Given the description of an element on the screen output the (x, y) to click on. 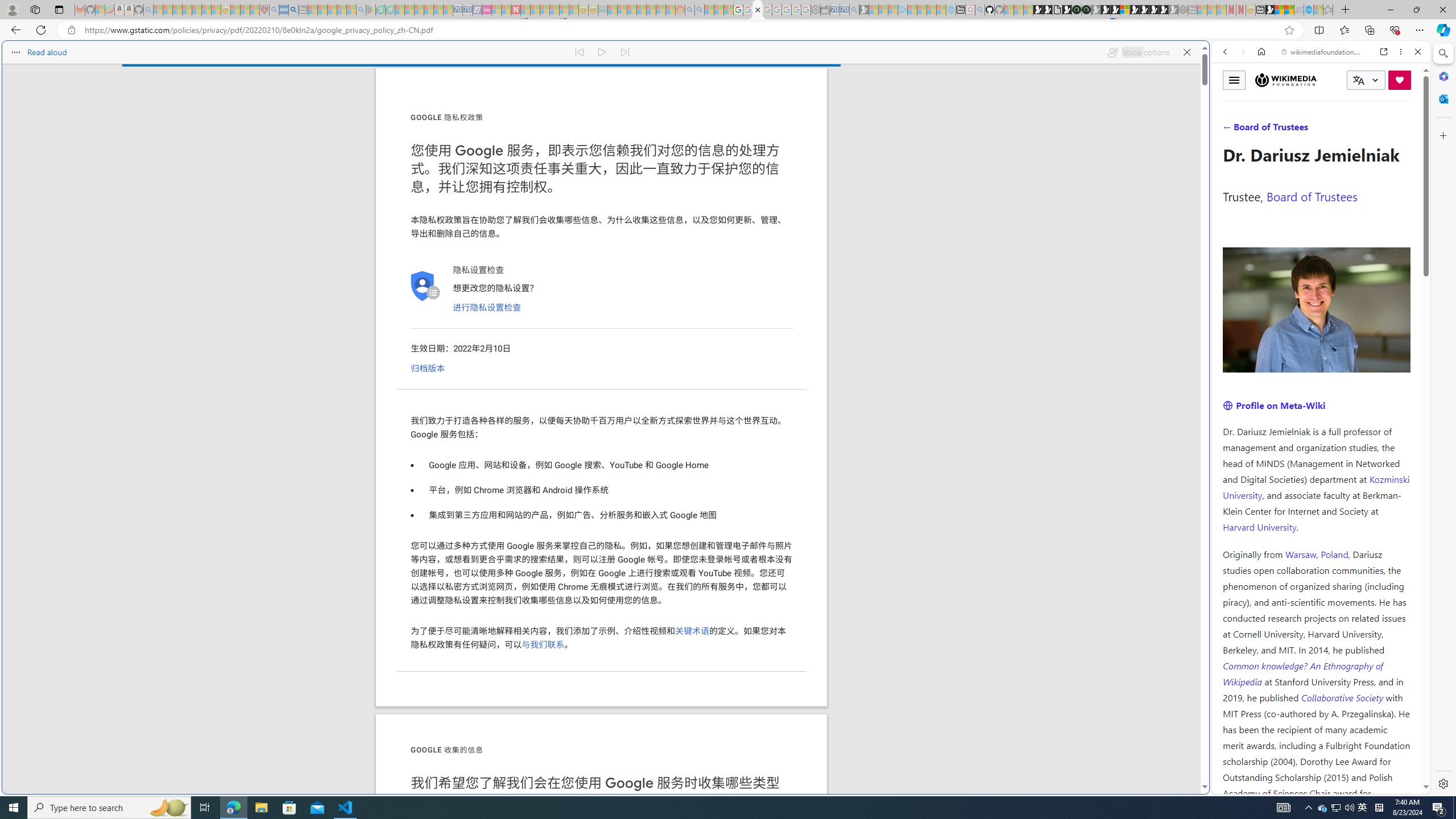
Settings - Sleeping (815, 9)
Class: i icon icon-translate language-switcher__icon (1358, 80)
Search or enter web address (922, 108)
